Given the description of an element on the screen output the (x, y) to click on. 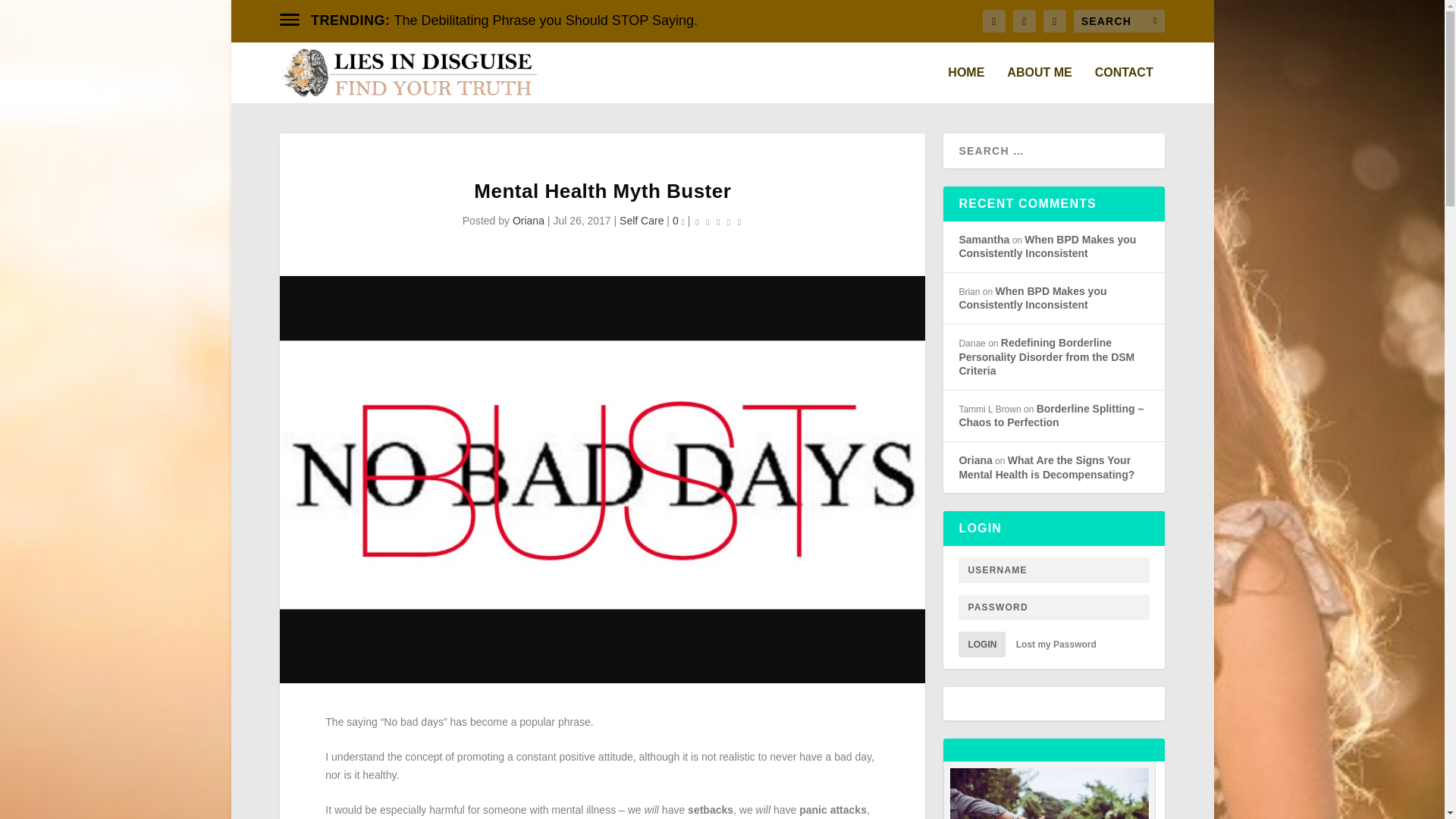
Posts by Oriana (528, 219)
Rating: 5.00 (717, 221)
Self Care (641, 219)
Oriana (528, 219)
The Debilitating Phrase you Should STOP Saying. (546, 20)
0 (678, 219)
